Given the description of an element on the screen output the (x, y) to click on. 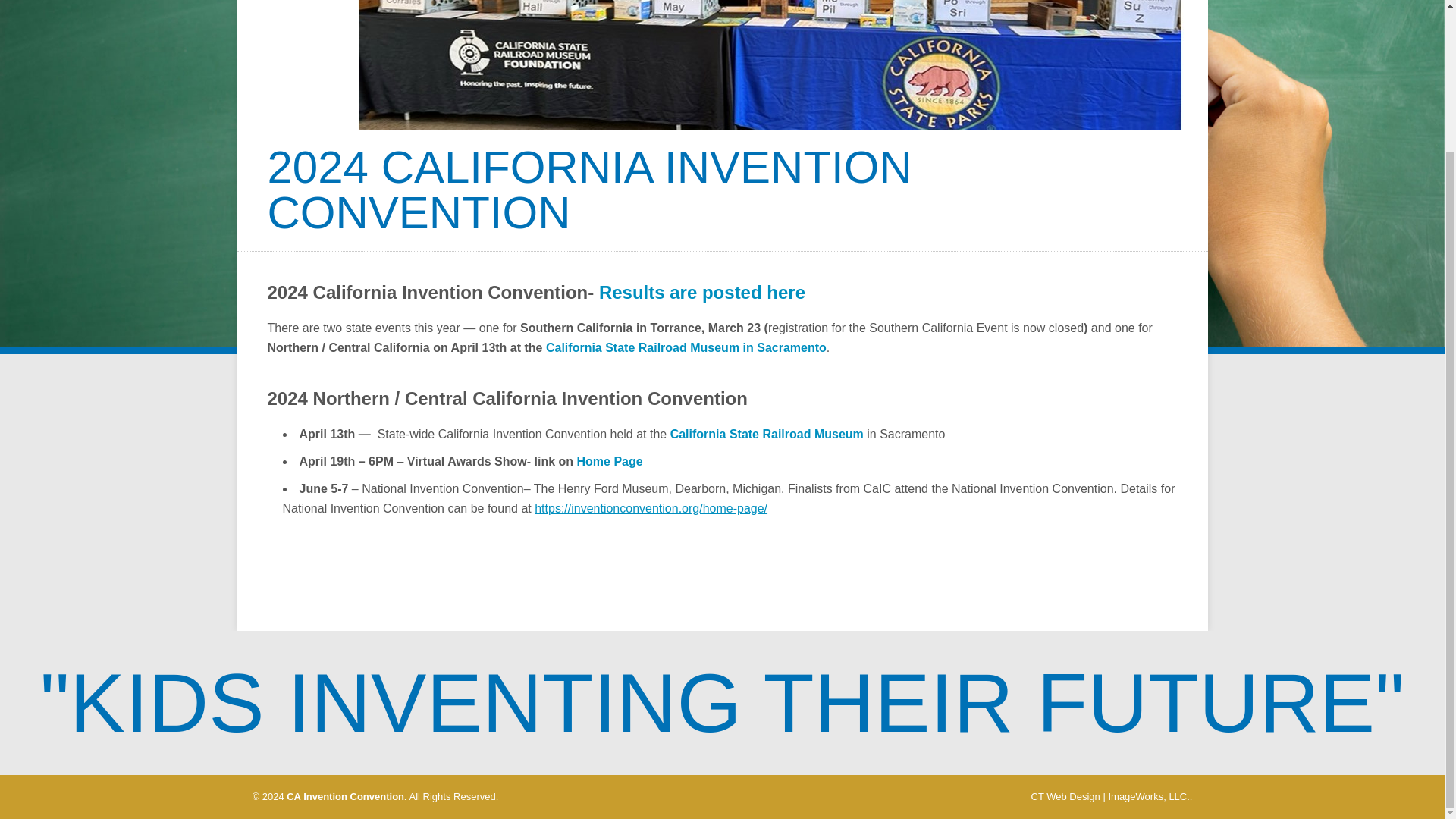
California State Railroad Museum in Sacramento (686, 347)
California State Railroad Museum (766, 433)
Home Page (609, 461)
Results are posted here (701, 291)
ImageWorks, LLC. (1148, 796)
